Given the description of an element on the screen output the (x, y) to click on. 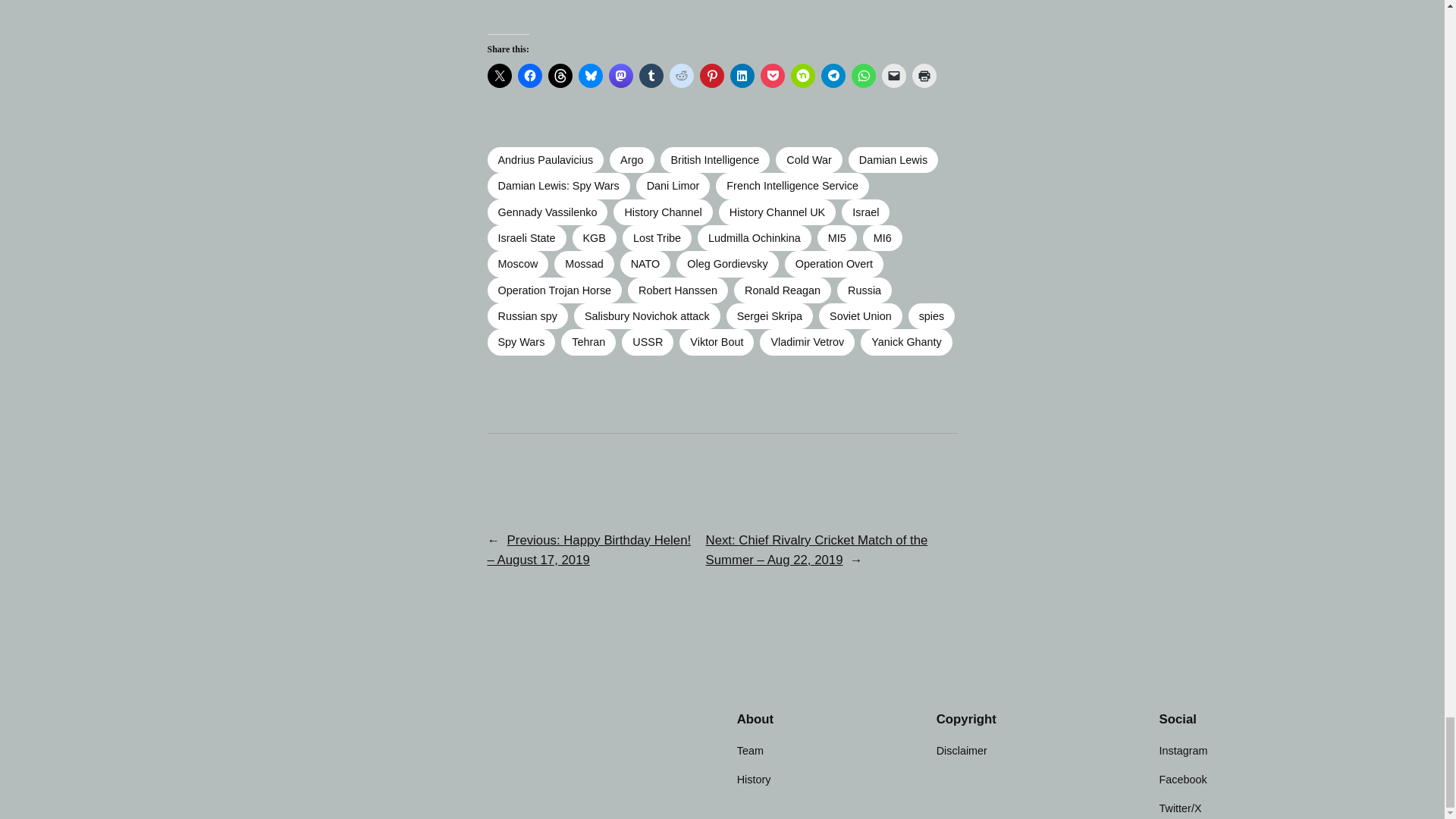
Click to share on Mastodon (619, 75)
Click to share on Facebook (528, 75)
Click to share on Pinterest (710, 75)
Click to share on Telegram (832, 75)
Click to share on LinkedIn (741, 75)
Click to share on Bluesky (590, 75)
Click to share on WhatsApp (862, 75)
Click to share on Pocket (772, 75)
Click to share on Nextdoor (801, 75)
Click to print (923, 75)
